Given the description of an element on the screen output the (x, y) to click on. 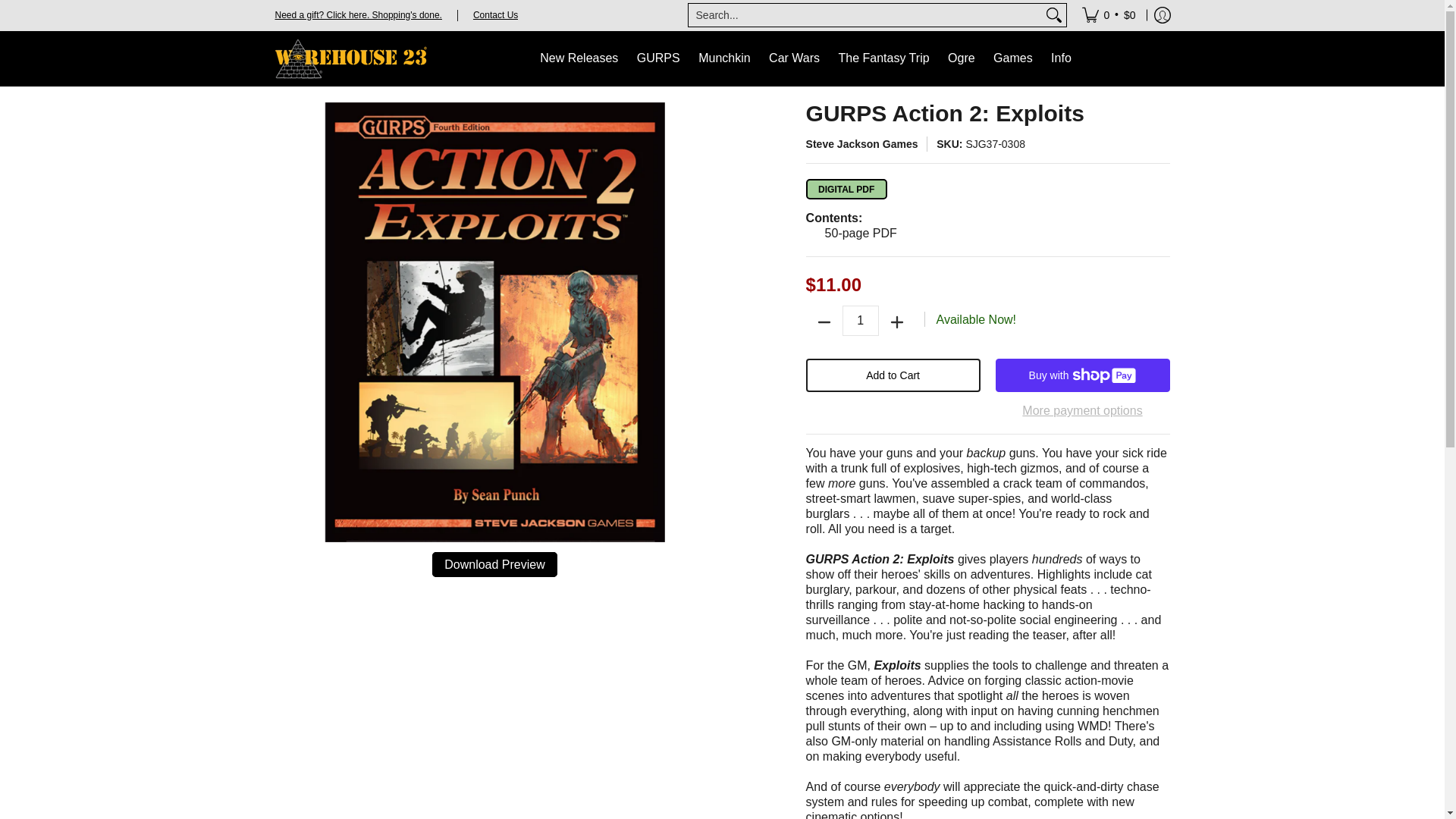
GURPS (657, 58)
The Fantasy Trip (884, 58)
New Releases (579, 58)
Car Wars (794, 58)
The Fantasy Trip (884, 58)
Car Wars (794, 58)
1 (861, 320)
GURPS (657, 58)
New Releases (579, 58)
Cart (1108, 15)
